Given the description of an element on the screen output the (x, y) to click on. 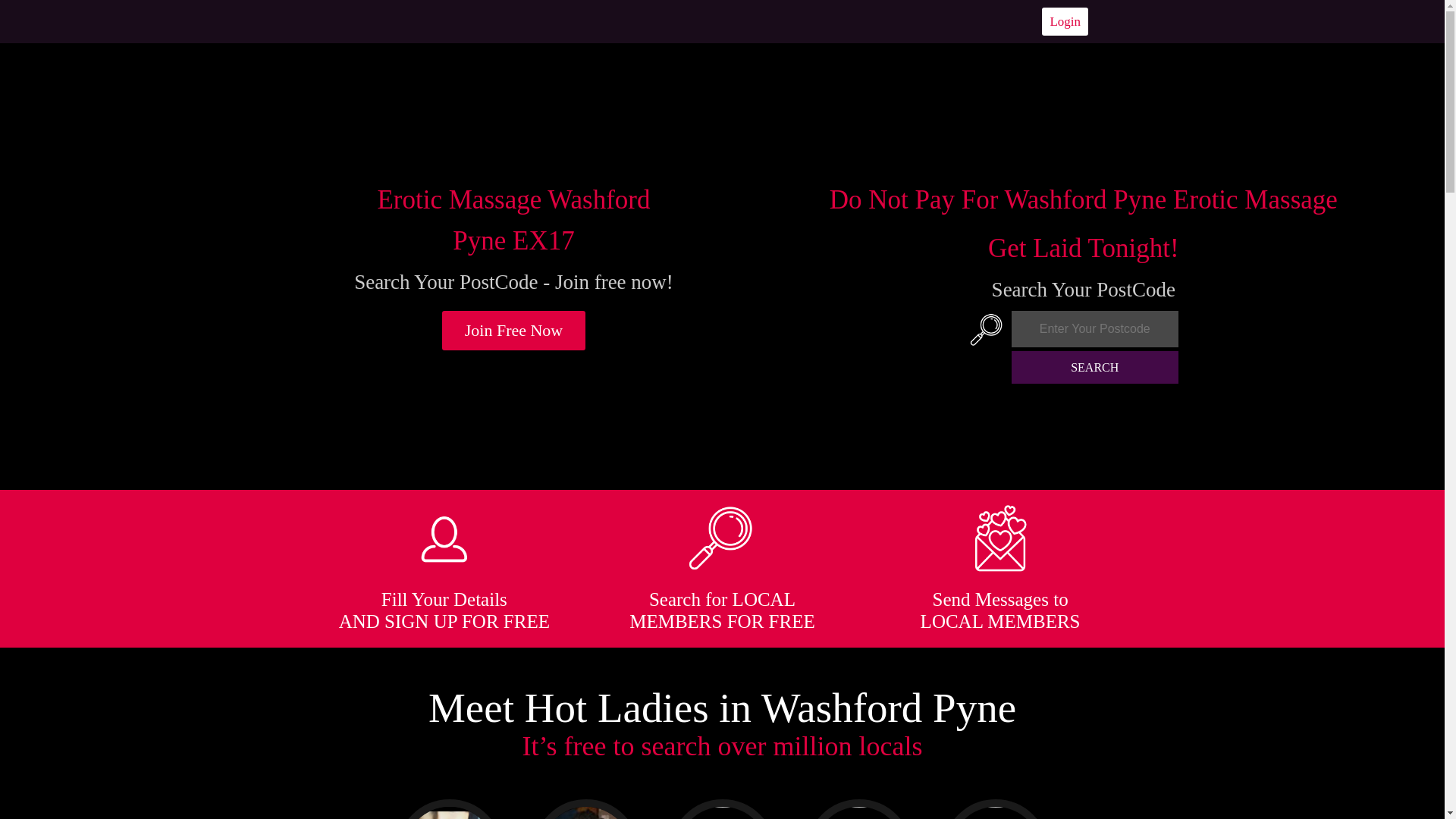
SEARCH (1094, 367)
Login (1064, 21)
Join (514, 330)
Login (1064, 21)
Join Free Now (514, 330)
